Given the description of an element on the screen output the (x, y) to click on. 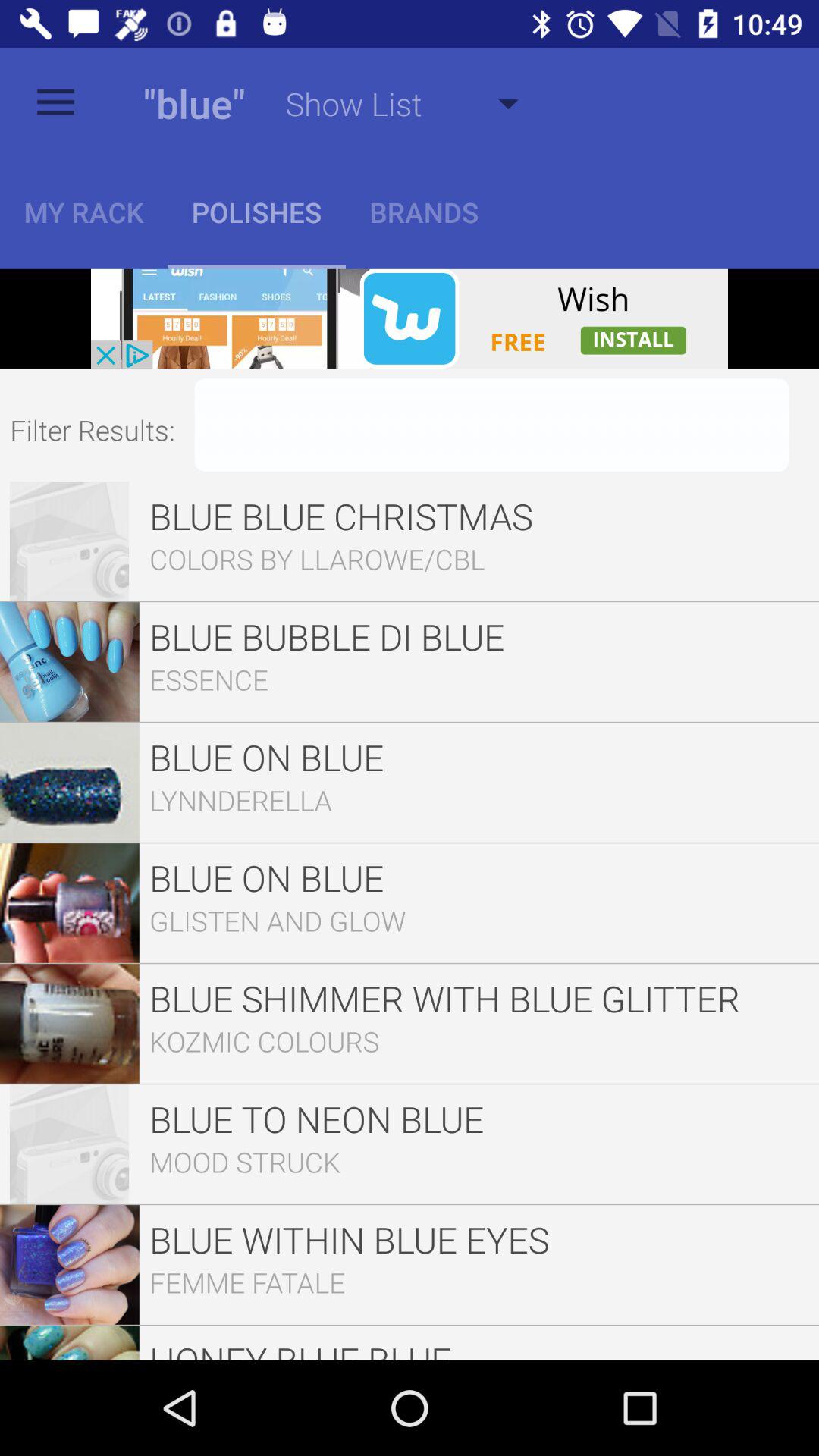
filter text (491, 424)
